Given the description of an element on the screen output the (x, y) to click on. 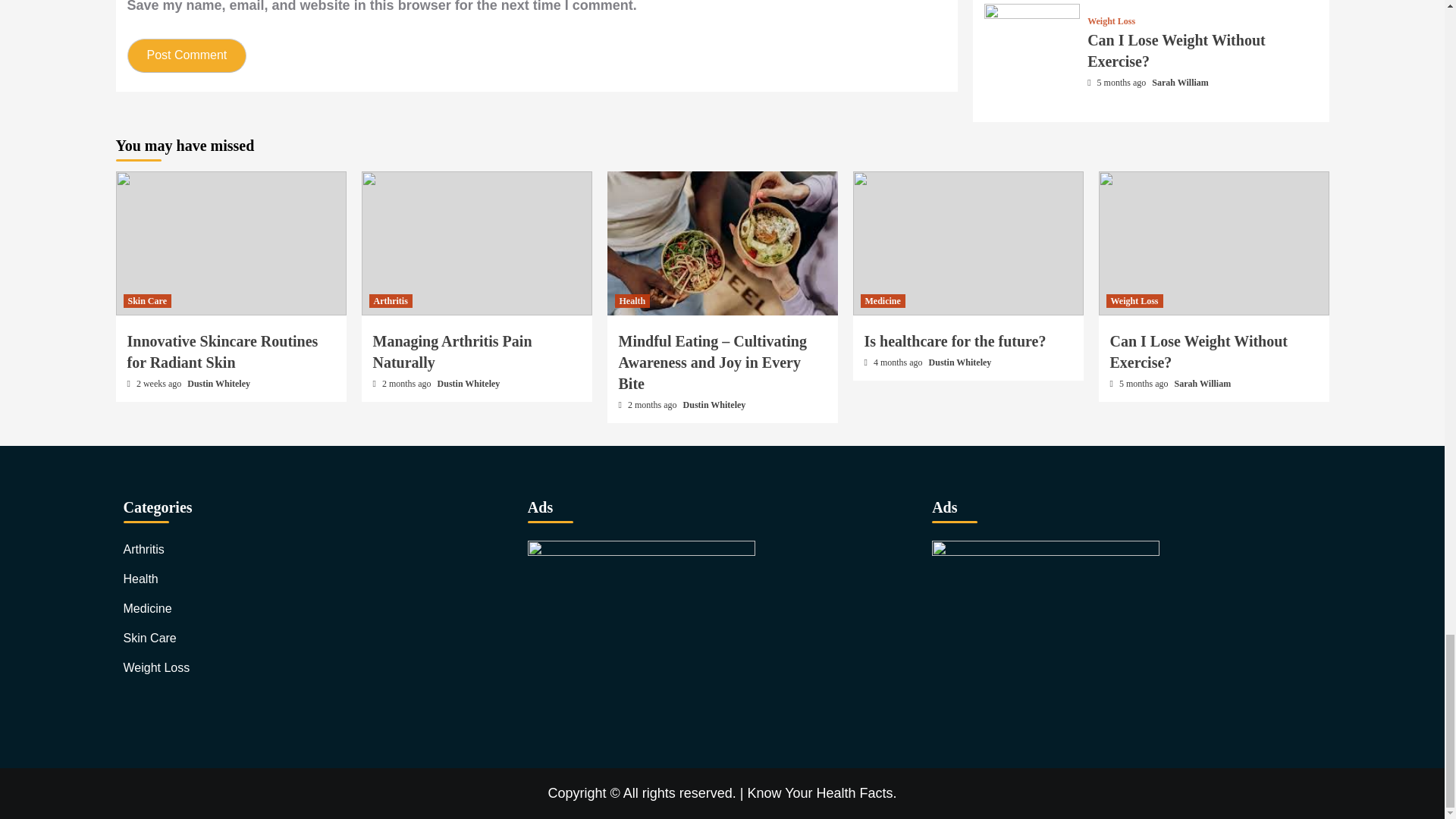
Post Comment (187, 55)
Post Comment (187, 55)
